Given the description of an element on the screen output the (x, y) to click on. 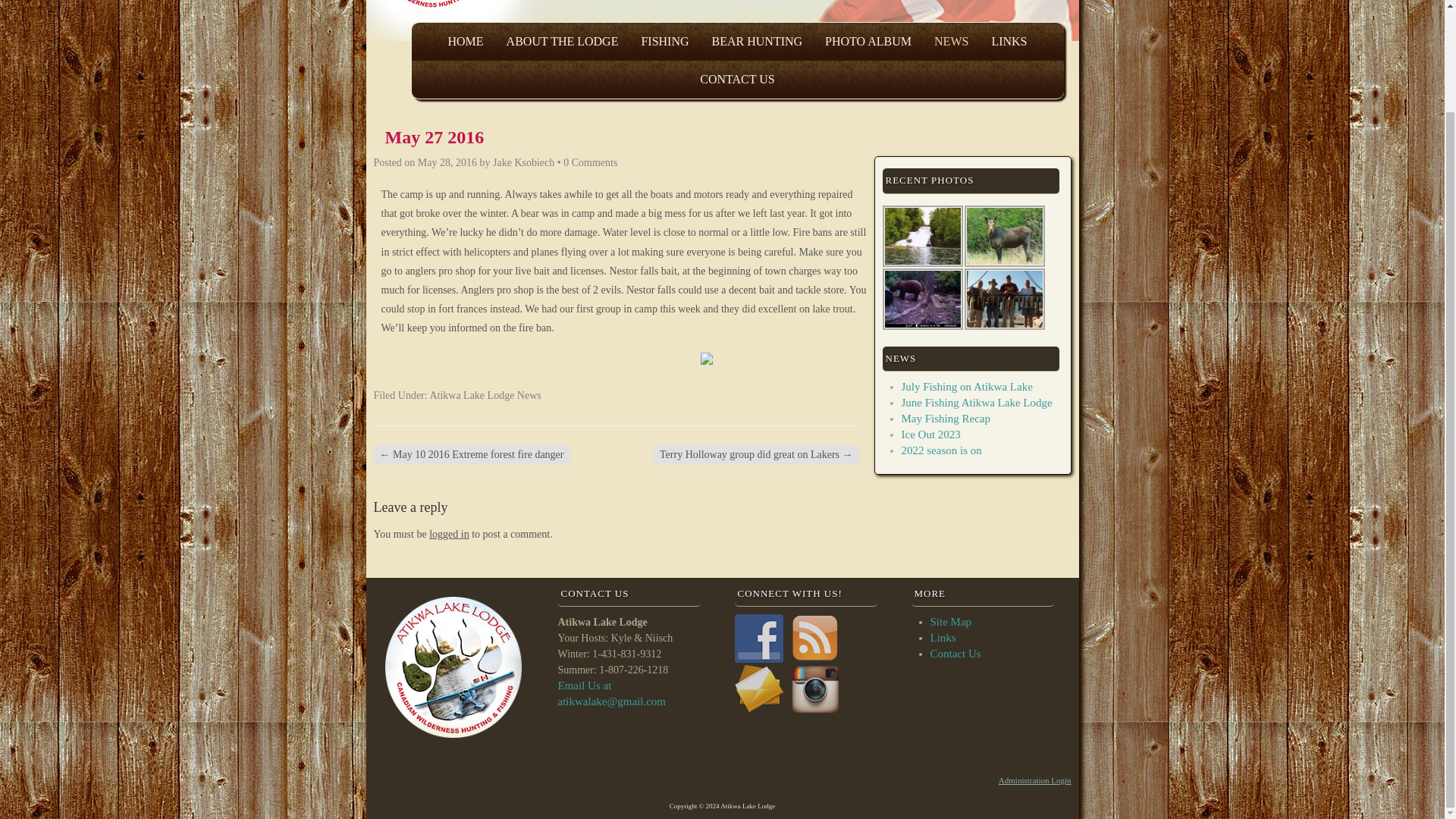
HOME (465, 41)
Follow Us on Instagram (814, 689)
Links (942, 637)
Follow Us on E-mail (758, 689)
CONTACT US (737, 79)
2022 season is on (941, 450)
stringer-at-dock (1004, 299)
logged in (448, 533)
mdgc0111 (922, 299)
0 Comments (590, 162)
